Given the description of an element on the screen output the (x, y) to click on. 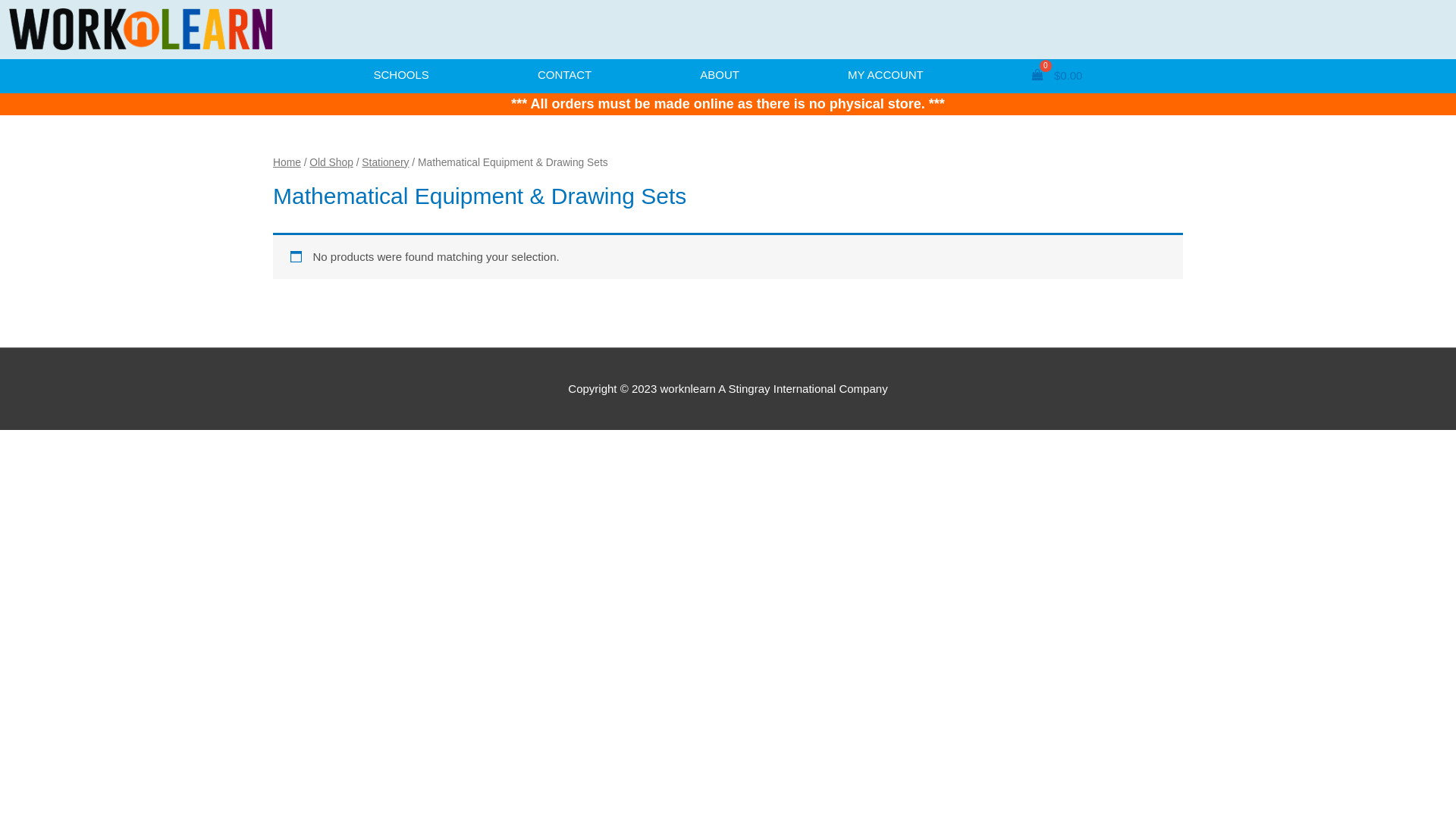
CONTACT Element type: text (564, 75)
SCHOOLS Element type: text (401, 75)
$0.00 Element type: text (1056, 75)
MY ACCOUNT Element type: text (885, 75)
Old Shop Element type: text (331, 161)
ABOUT Element type: text (719, 75)
Stationery Element type: text (384, 161)
Home Element type: text (287, 161)
